Given the description of an element on the screen output the (x, y) to click on. 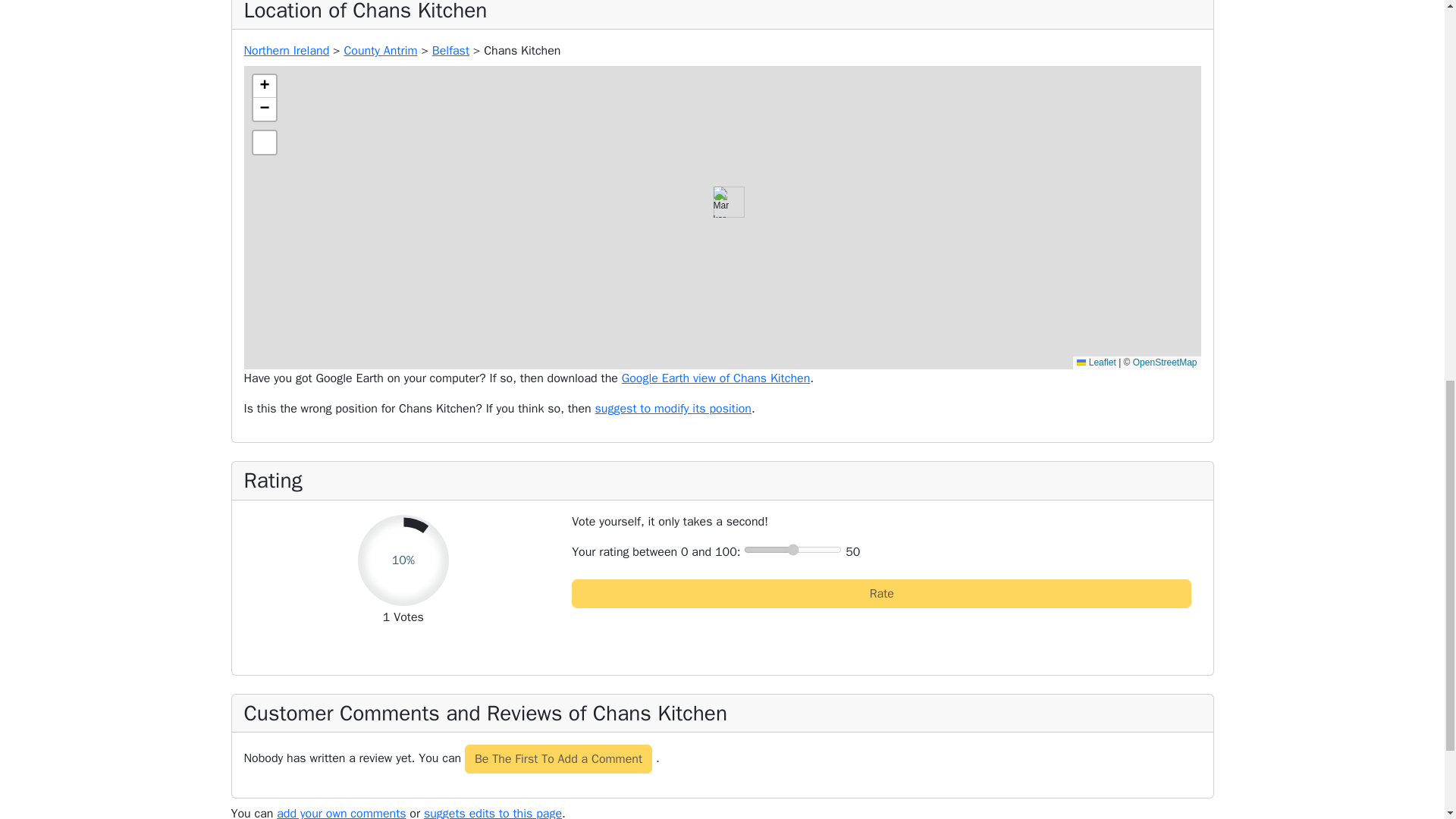
Leaflet (1096, 362)
A JavaScript library for interactive maps (1096, 362)
Rate (881, 593)
County Antrim (379, 50)
Zoom in (264, 86)
Northern Ireland (287, 50)
suggest to modify its position (673, 408)
add your own comments (341, 812)
suggets edits to this page (492, 812)
View Fullscreen (264, 142)
Be The First To Add a Comment (558, 758)
OpenStreetMap (1164, 362)
Belfast (450, 50)
50 (792, 549)
Zoom out (264, 108)
